Given the description of an element on the screen output the (x, y) to click on. 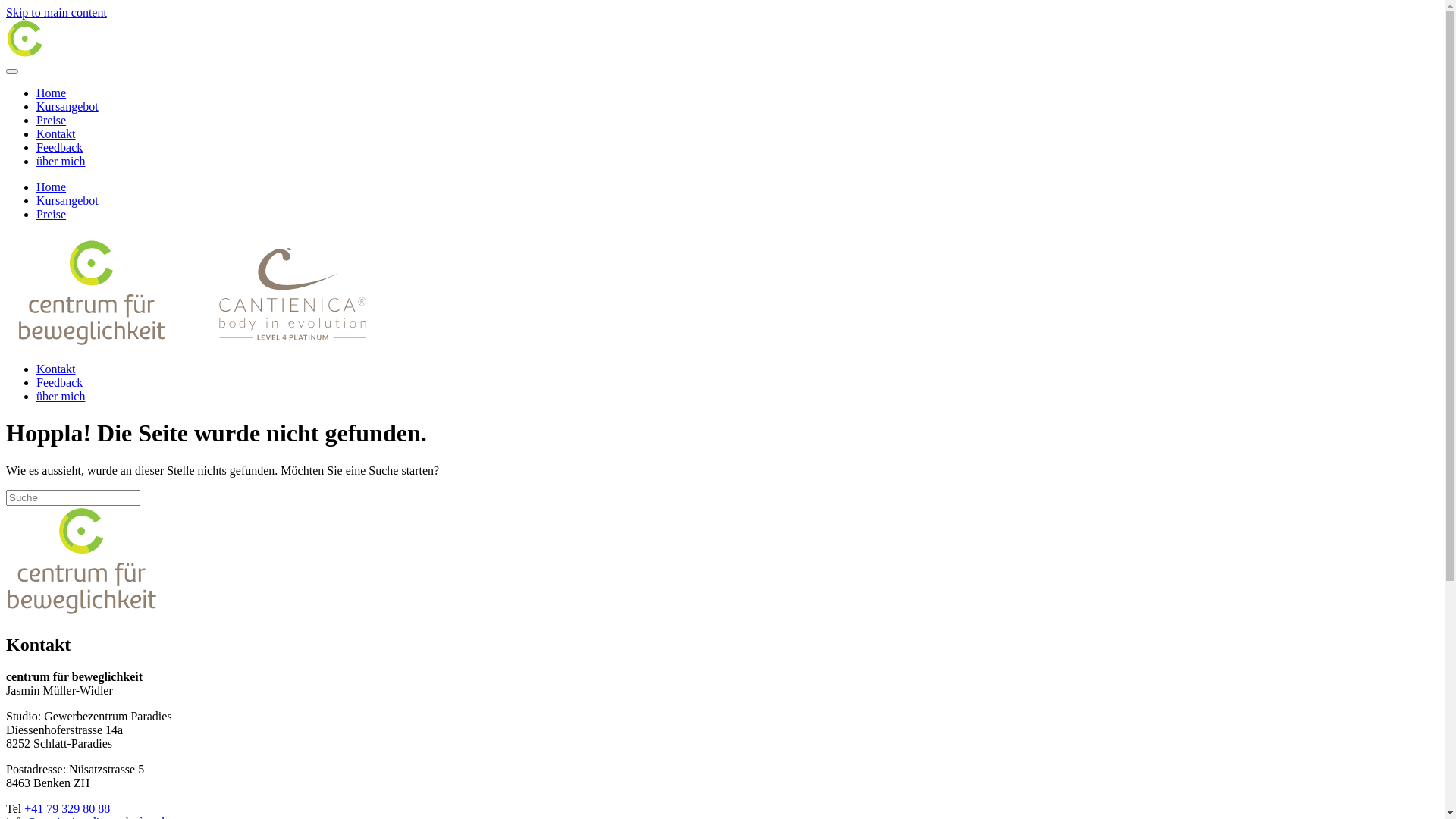
Kontakt Element type: text (55, 133)
Kontakt Element type: text (55, 368)
Feedback Element type: text (59, 147)
+41 79 329 80 88 Element type: text (66, 808)
Kursangebot Element type: text (67, 200)
Skip to main content Element type: text (56, 12)
Feedback Element type: text (59, 382)
Home Element type: text (50, 92)
Home Element type: text (50, 186)
Preise Element type: text (50, 119)
Kursangebot Element type: text (67, 106)
Preise Element type: text (50, 213)
